Given the description of an element on the screen output the (x, y) to click on. 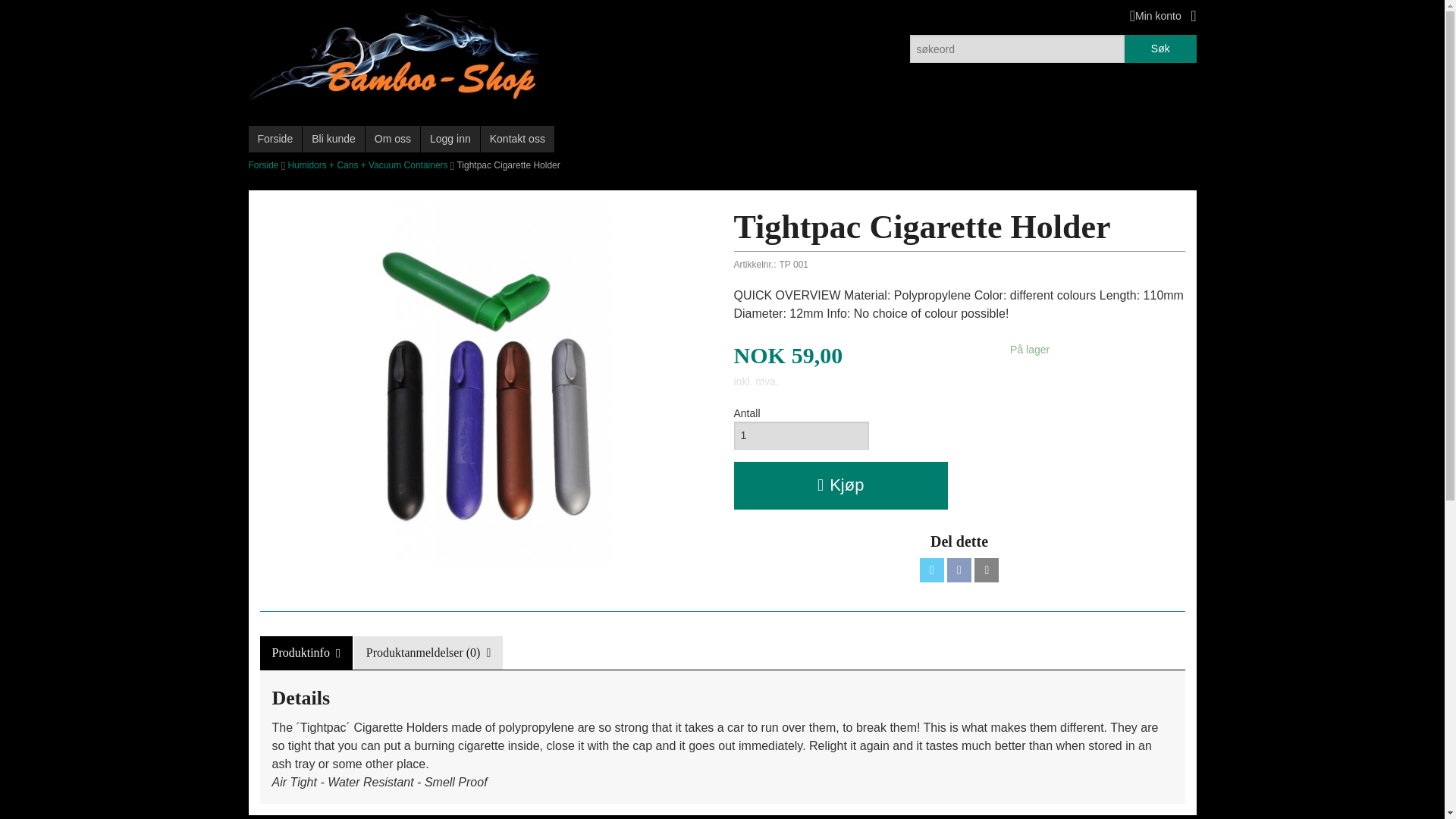
Logg inn (450, 139)
Min konto (1154, 15)
Bli kunde (333, 139)
1 (801, 435)
Forside (275, 139)
Om oss (392, 139)
Kontakt oss (517, 139)
